Given the description of an element on the screen output the (x, y) to click on. 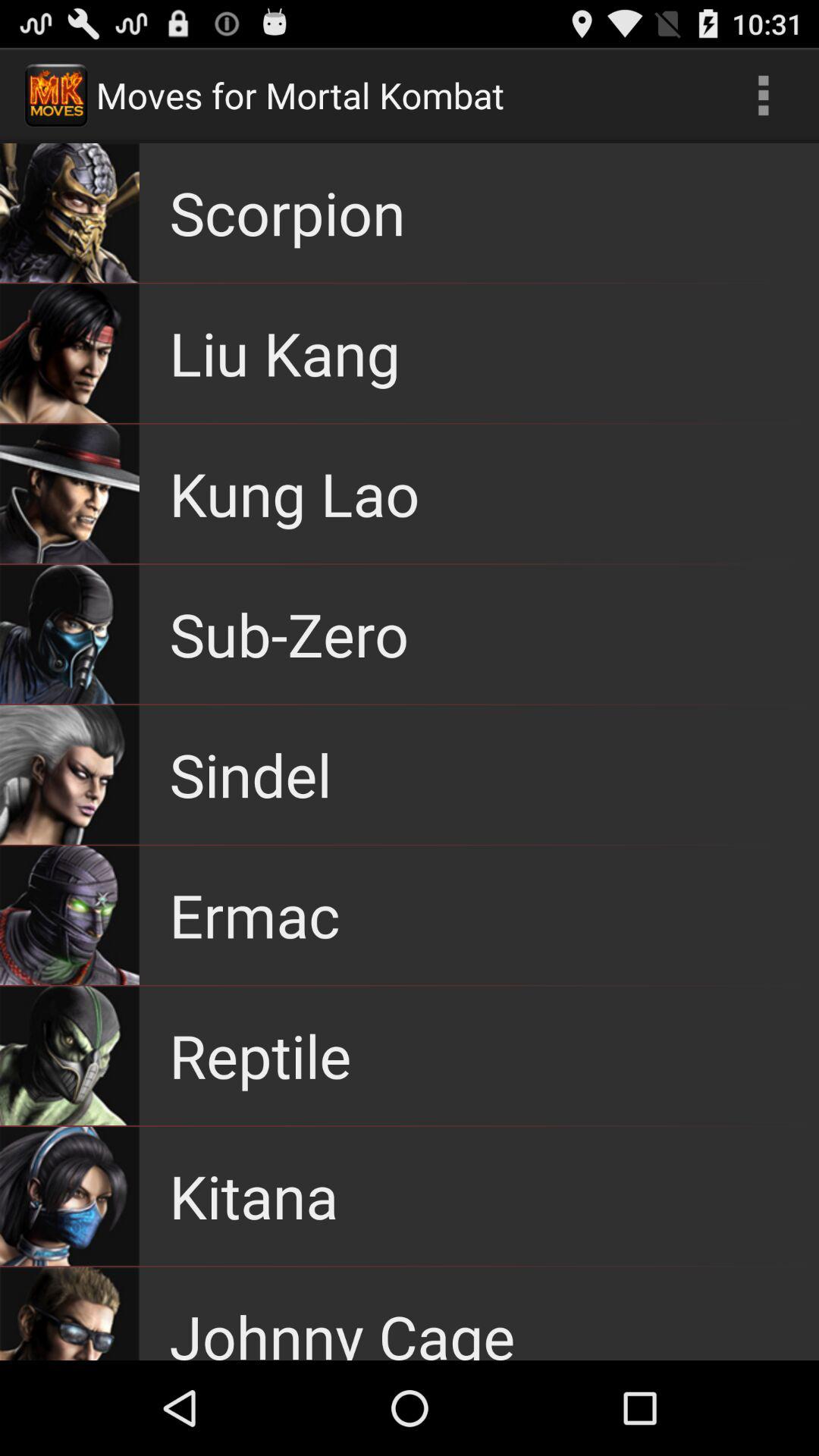
select the item above the reptile (254, 914)
